Given the description of an element on the screen output the (x, y) to click on. 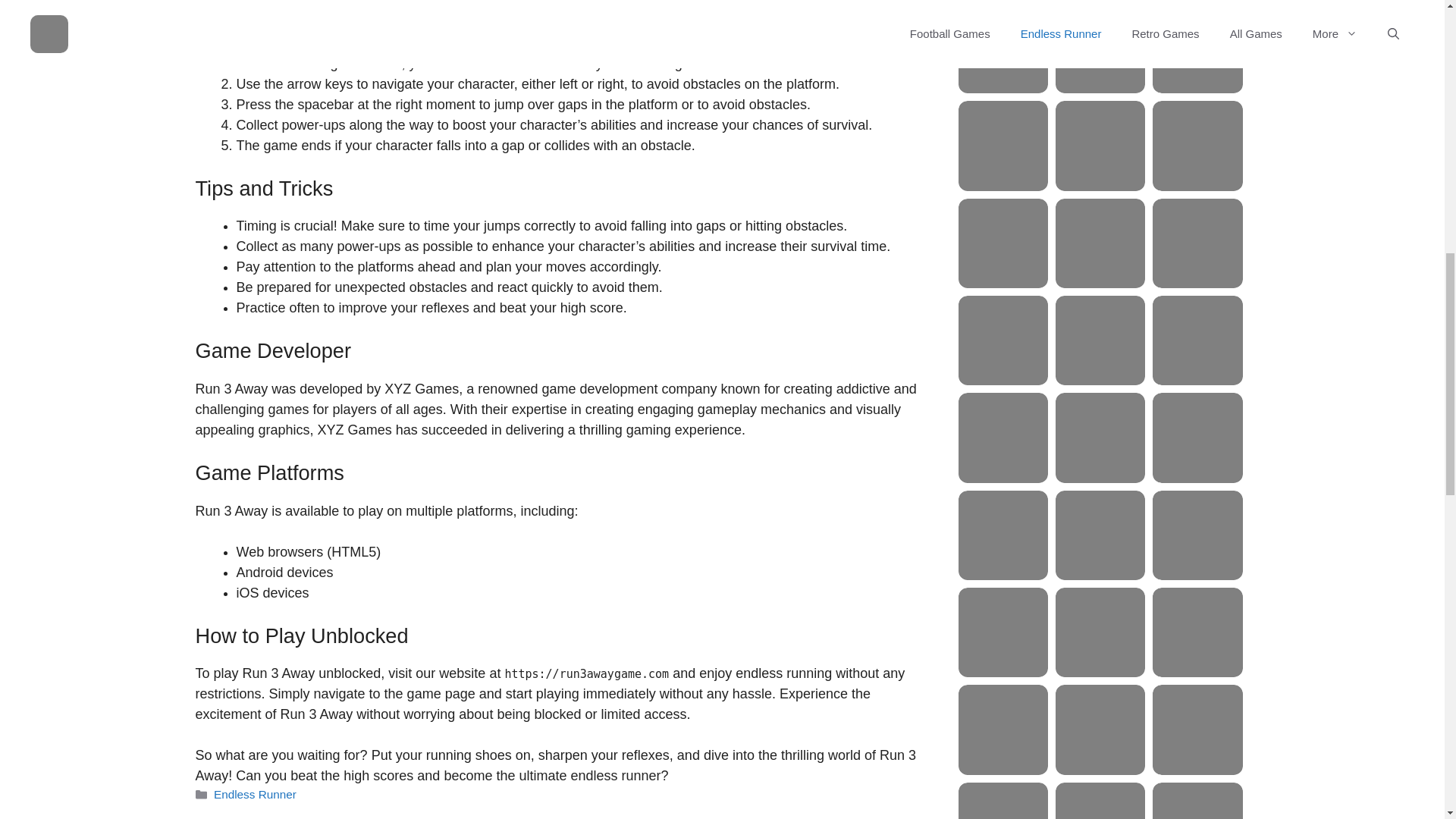
Endless Runner (255, 793)
